Given the description of an element on the screen output the (x, y) to click on. 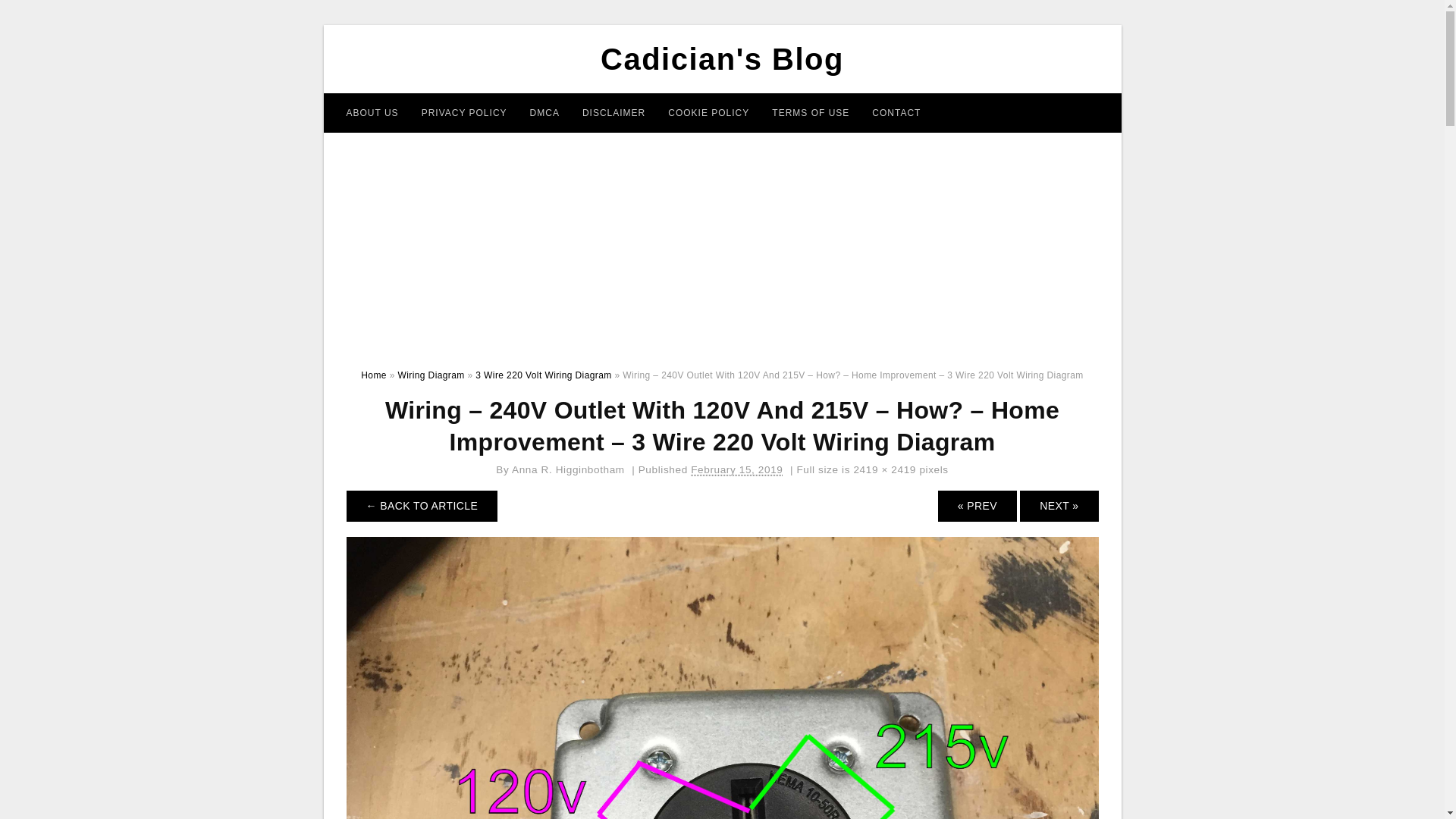
Home (374, 375)
COOKIE POLICY (708, 112)
Link to full-size image (884, 469)
Cadician's Blog (721, 59)
View all posts by Anna R. Higginbotham (568, 469)
DISCLAIMER (613, 112)
3 Wire 220 Volt Wiring Diagram (543, 375)
ABOUT US (372, 112)
8:11 am (736, 469)
Anna R. Higginbotham (568, 469)
